Given the description of an element on the screen output the (x, y) to click on. 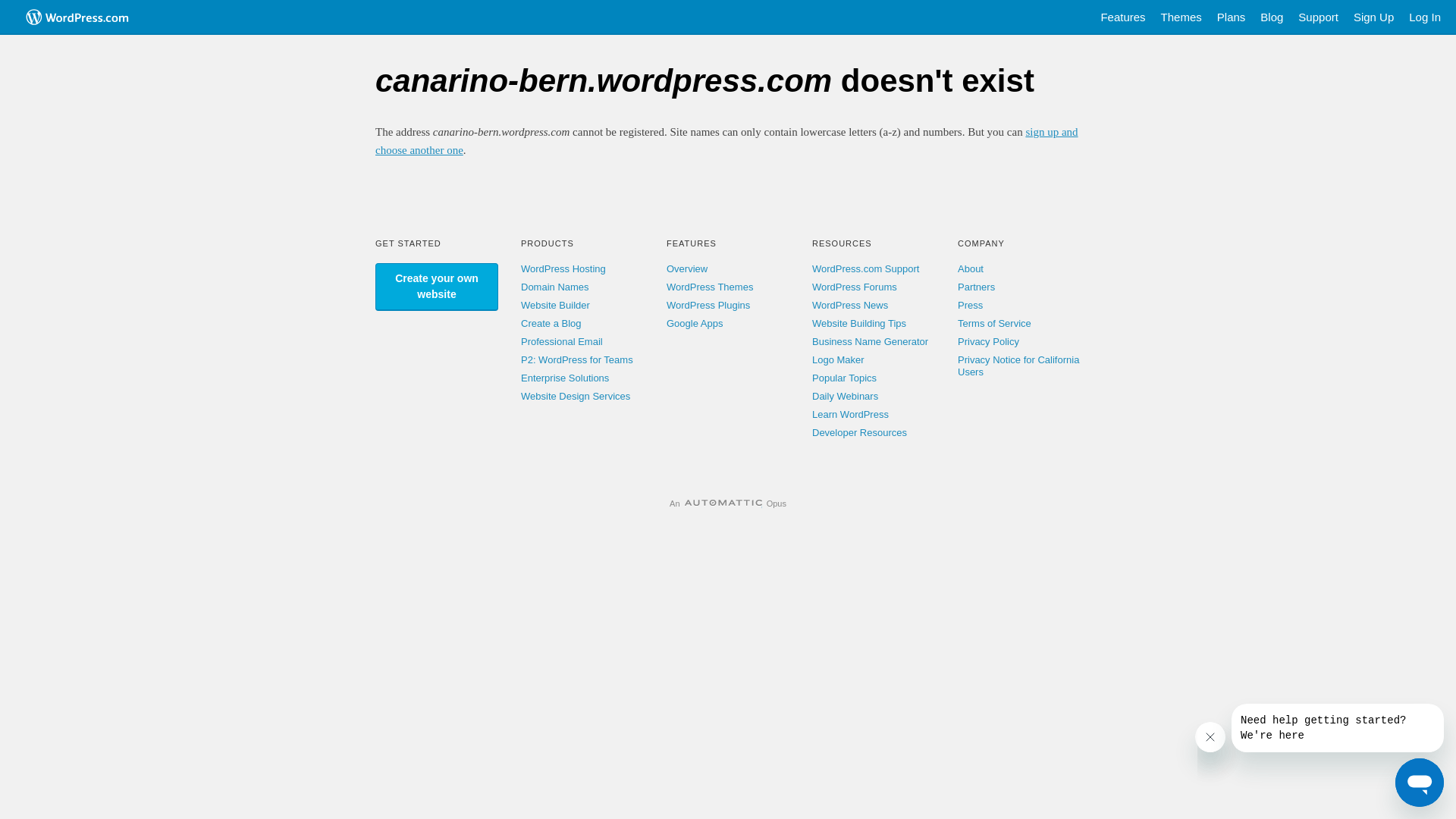
About Element type: text (970, 268)
Create your own website Element type: text (436, 286)
Sign Up Element type: text (1373, 17)
Automattic Element type: text (723, 503)
Features Element type: text (1122, 17)
Developer Resources Element type: text (859, 432)
Terms of Service Element type: text (994, 323)
Blog Element type: text (1271, 17)
Popular Topics Element type: text (844, 377)
Privacy Notice for California Users Element type: text (1018, 365)
Google Apps Element type: text (694, 323)
Website Builder Element type: text (554, 304)
Logo Maker Element type: text (838, 359)
Partners Element type: text (975, 286)
Overview Element type: text (686, 268)
Professional Email Element type: text (561, 341)
Business Name Generator Element type: text (870, 341)
Press Element type: text (969, 304)
Create a Blog Element type: text (550, 323)
WordPress.com Support Element type: text (865, 268)
Log In Element type: text (1424, 17)
Enterprise Solutions Element type: text (564, 377)
Button to launch messaging window Element type: hover (1419, 782)
WordPress Hosting Element type: text (562, 268)
Domain Names Element type: text (554, 286)
P2: WordPress for Teams Element type: text (576, 359)
Close message Element type: hover (1210, 736)
Plans Element type: text (1231, 17)
sign up and choose another one Element type: text (726, 140)
Support Element type: text (1318, 17)
Themes Element type: text (1181, 17)
Website Design Services Element type: text (575, 395)
WordPress Forums Element type: text (854, 286)
WordPress Plugins Element type: text (707, 304)
Learn WordPress Element type: text (850, 414)
Message from company Element type: hover (1337, 727)
WordPress News Element type: text (850, 304)
Privacy Policy Element type: text (988, 341)
Website Building Tips Element type: text (859, 323)
Daily Webinars Element type: text (845, 395)
WordPress Themes Element type: text (709, 286)
